Given the description of an element on the screen output the (x, y) to click on. 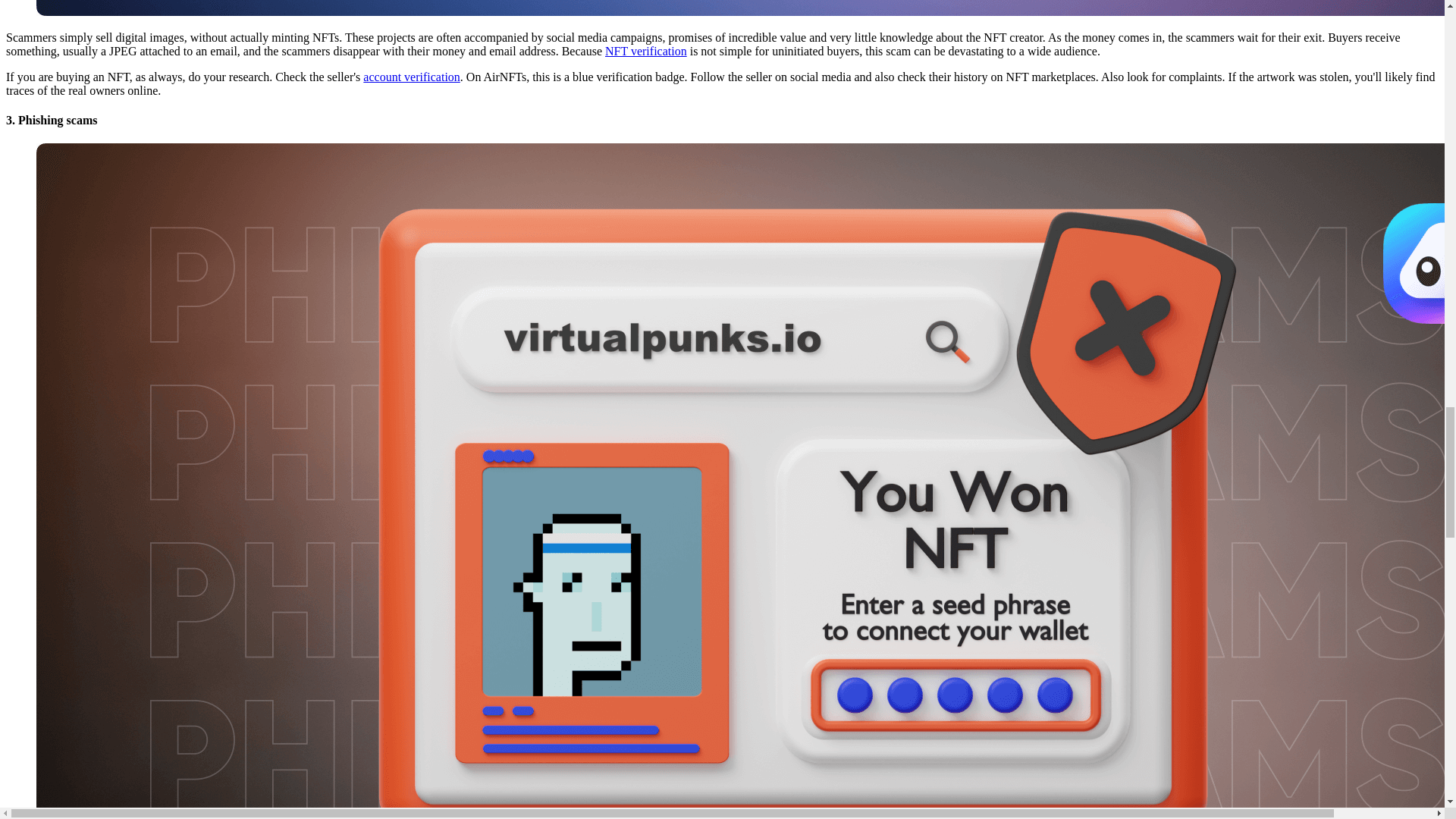
account verification (411, 76)
NFT verification (646, 51)
